Given the description of an element on the screen output the (x, y) to click on. 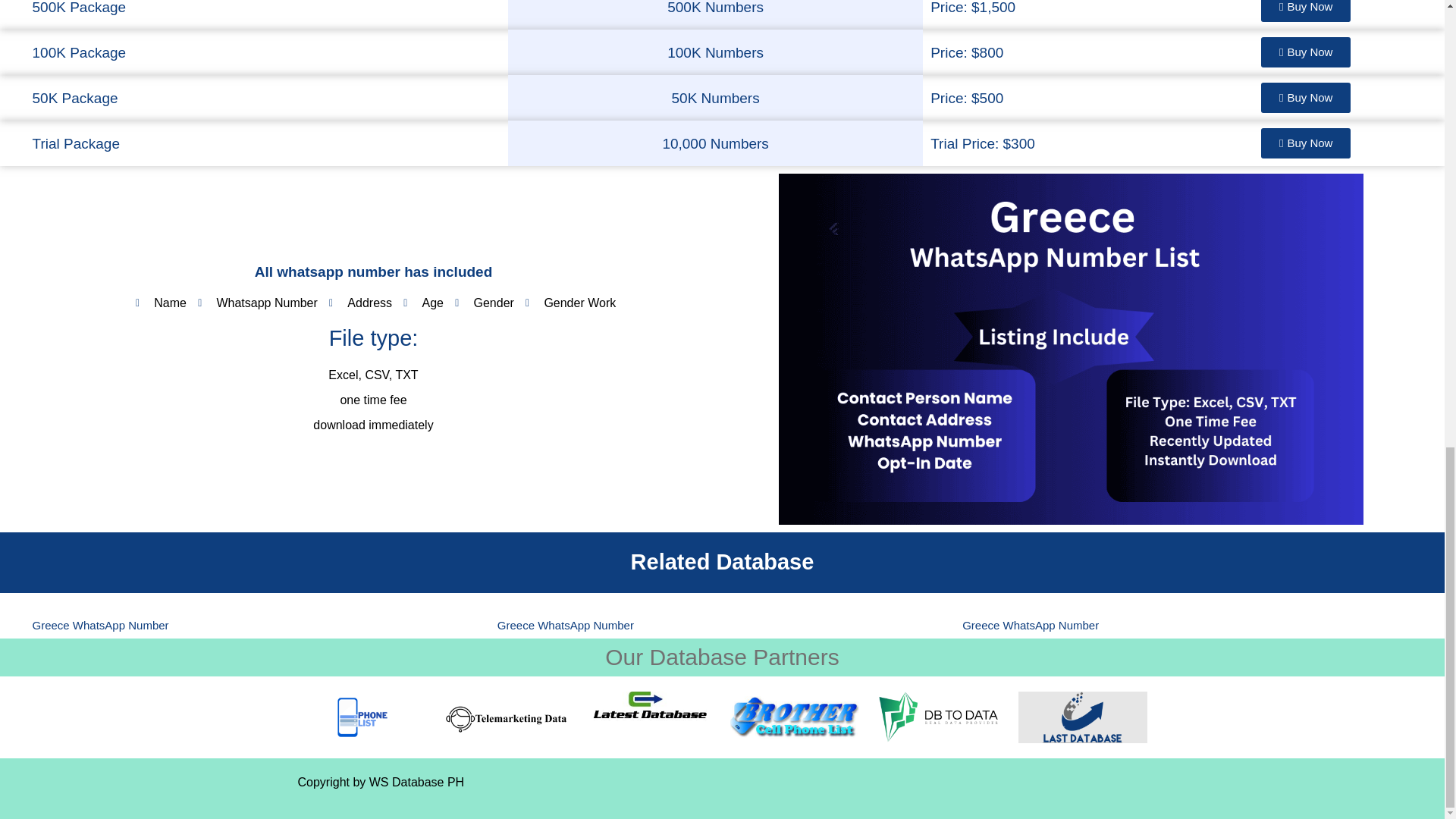
Buy Now (1305, 97)
Buy Now (1305, 142)
Buy Now (1305, 11)
Greece WhatsApp Number (565, 625)
Greece WhatsApp Number (1030, 625)
Greece WhatsApp Number (100, 625)
Buy Now (1305, 51)
WS Database PH (416, 781)
